Given the description of an element on the screen output the (x, y) to click on. 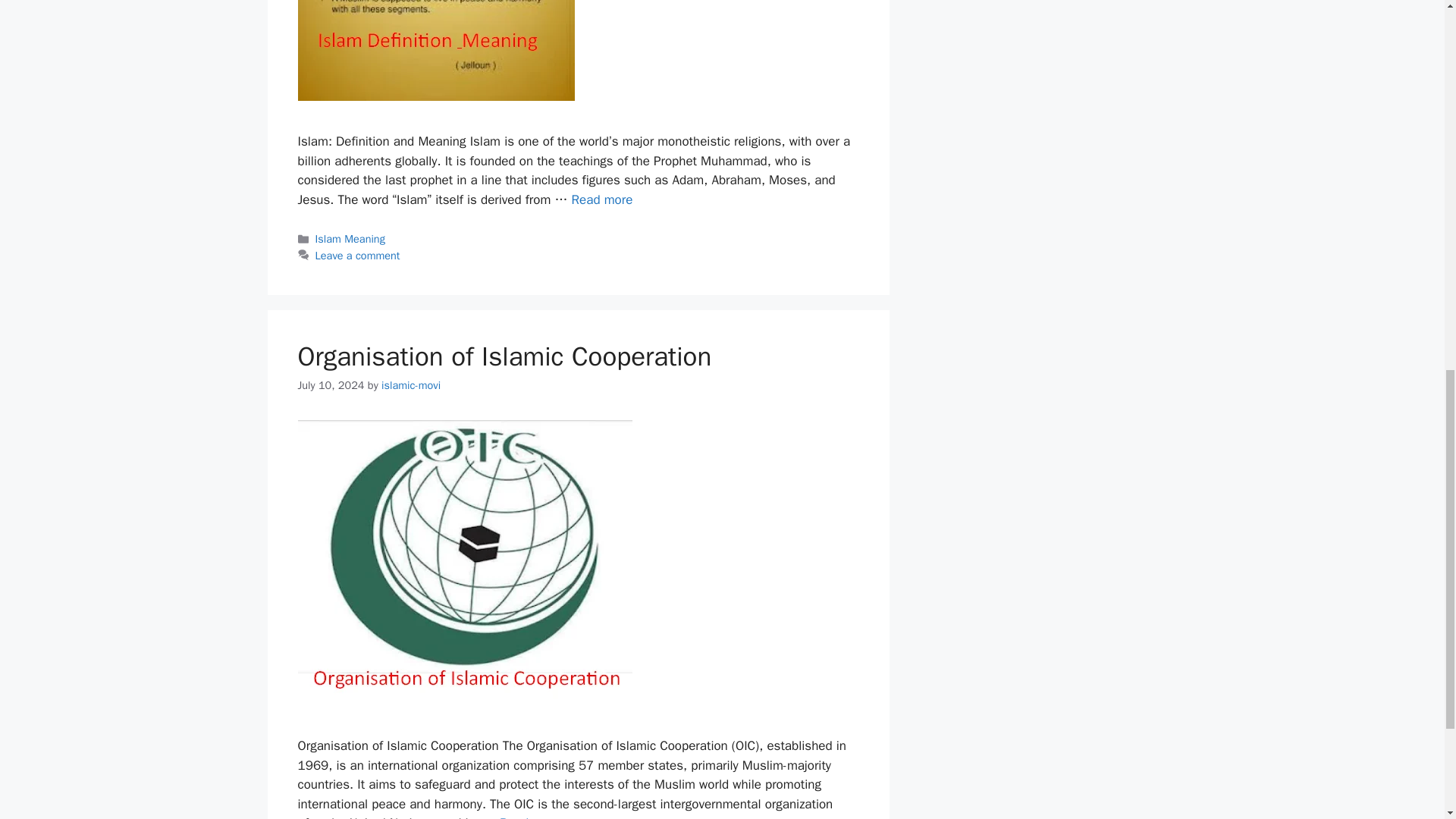
Organisation of Islamic Cooperation (504, 356)
View all posts by islamic-movi (411, 385)
Organisation of Islamic Cooperation (529, 816)
Islam Meaning (350, 238)
Islam: Definition and Meaning (602, 199)
Read more (602, 199)
Leave a comment (357, 255)
islamic-movi (411, 385)
Read more (529, 816)
